Given the description of an element on the screen output the (x, y) to click on. 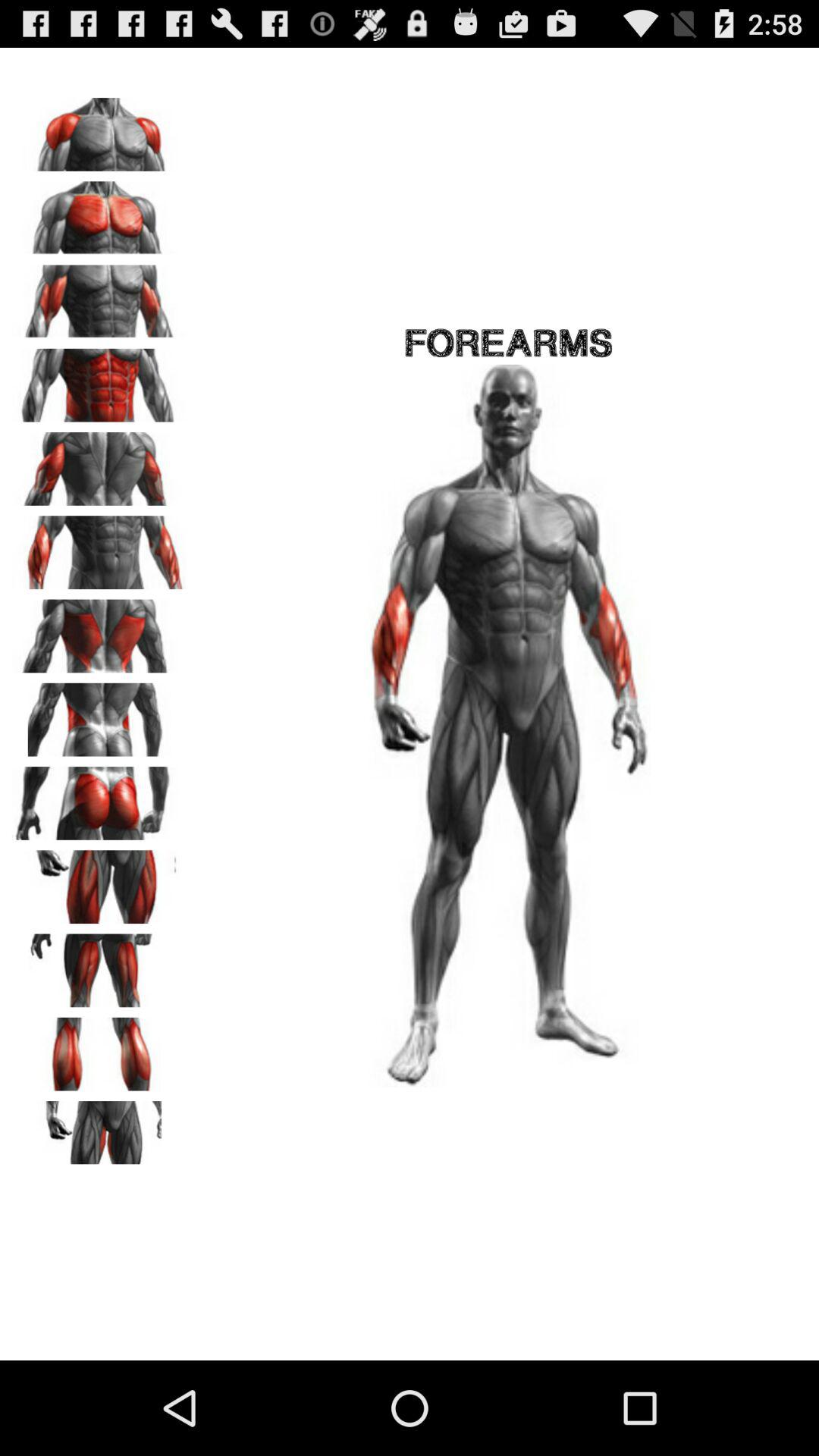
select pectorals (99, 212)
